Given the description of an element on the screen output the (x, y) to click on. 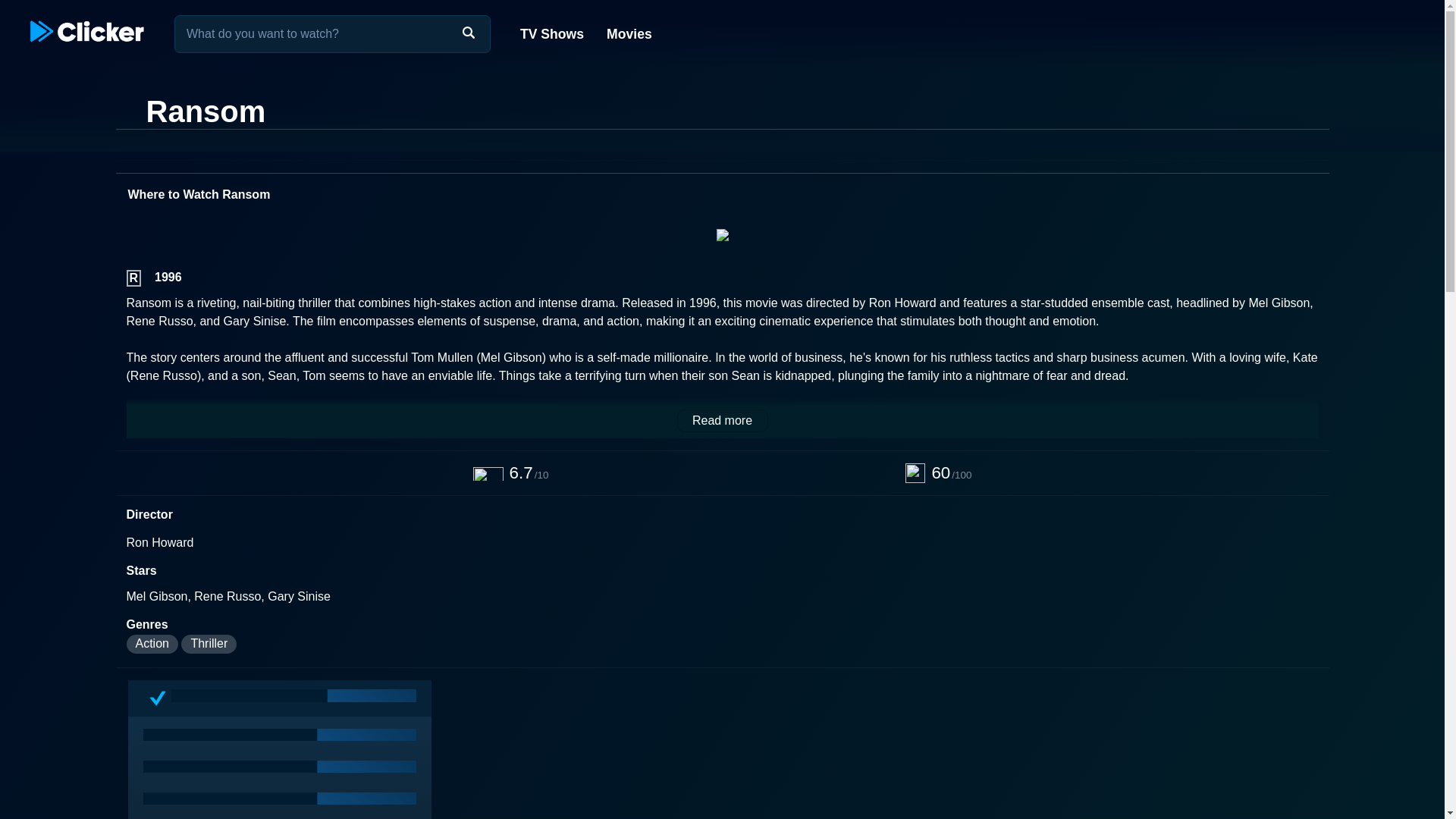
Thriller (207, 643)
Movies (628, 33)
Read more (722, 420)
Action (151, 643)
TV Shows (551, 33)
